Given the description of an element on the screen output the (x, y) to click on. 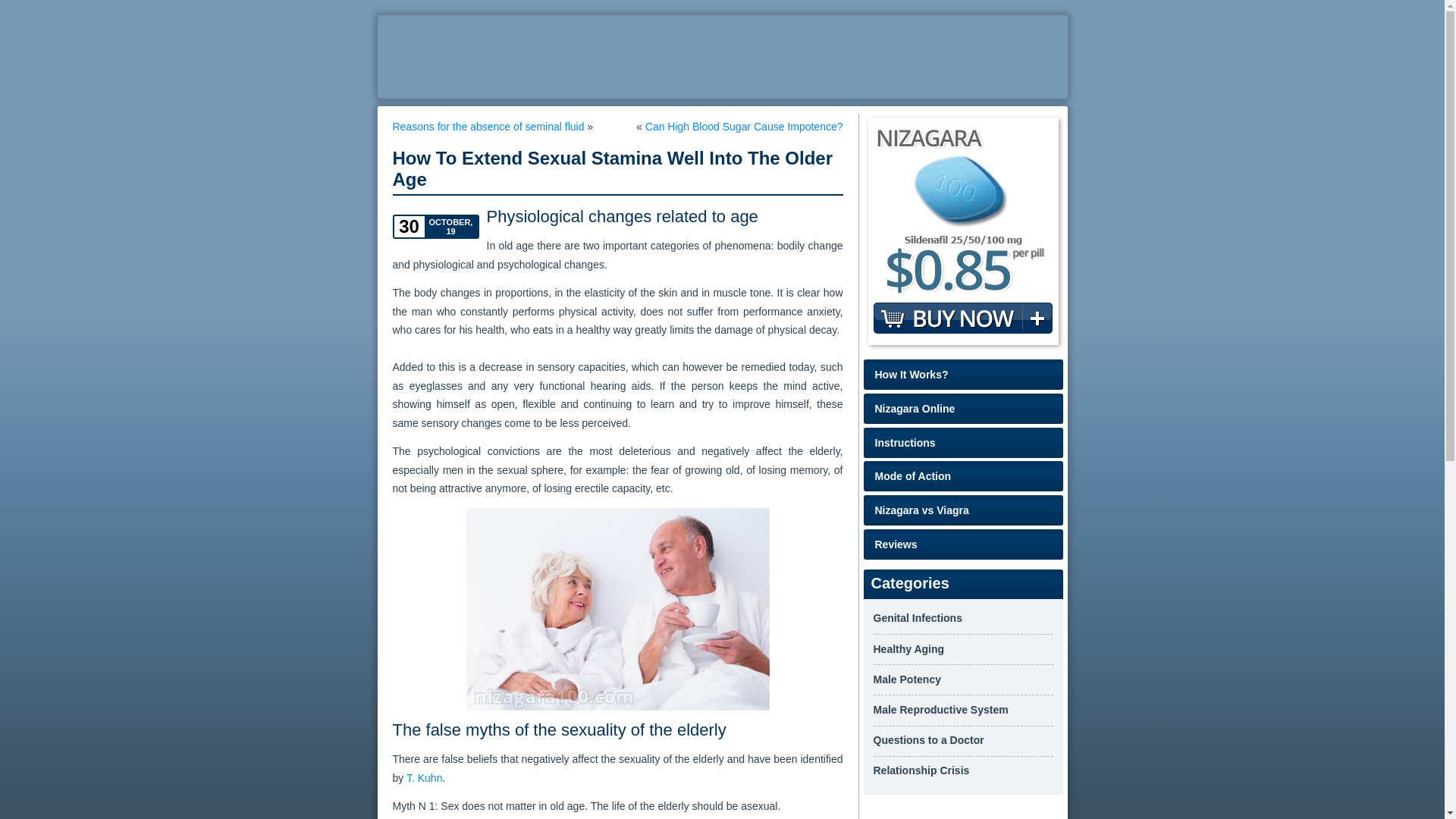
How It Works? (962, 374)
Can High Blood Sugar Cause Impotence? (744, 126)
Reasons for the absence of seminal fluid (489, 126)
Relationship Crisis (921, 770)
Mode of Action (962, 476)
T. Kuhn (424, 777)
Nizagara vs Viagra (962, 510)
Reviews (962, 544)
Healthy Aging (908, 648)
Instructions (962, 442)
Genital Infections (917, 617)
Questions to a Doctor (928, 739)
Can High Blood Sugar Cause Impotence? (744, 126)
Instructions (962, 442)
Reasons for the absence of seminal fluid (489, 126)
